Given the description of an element on the screen output the (x, y) to click on. 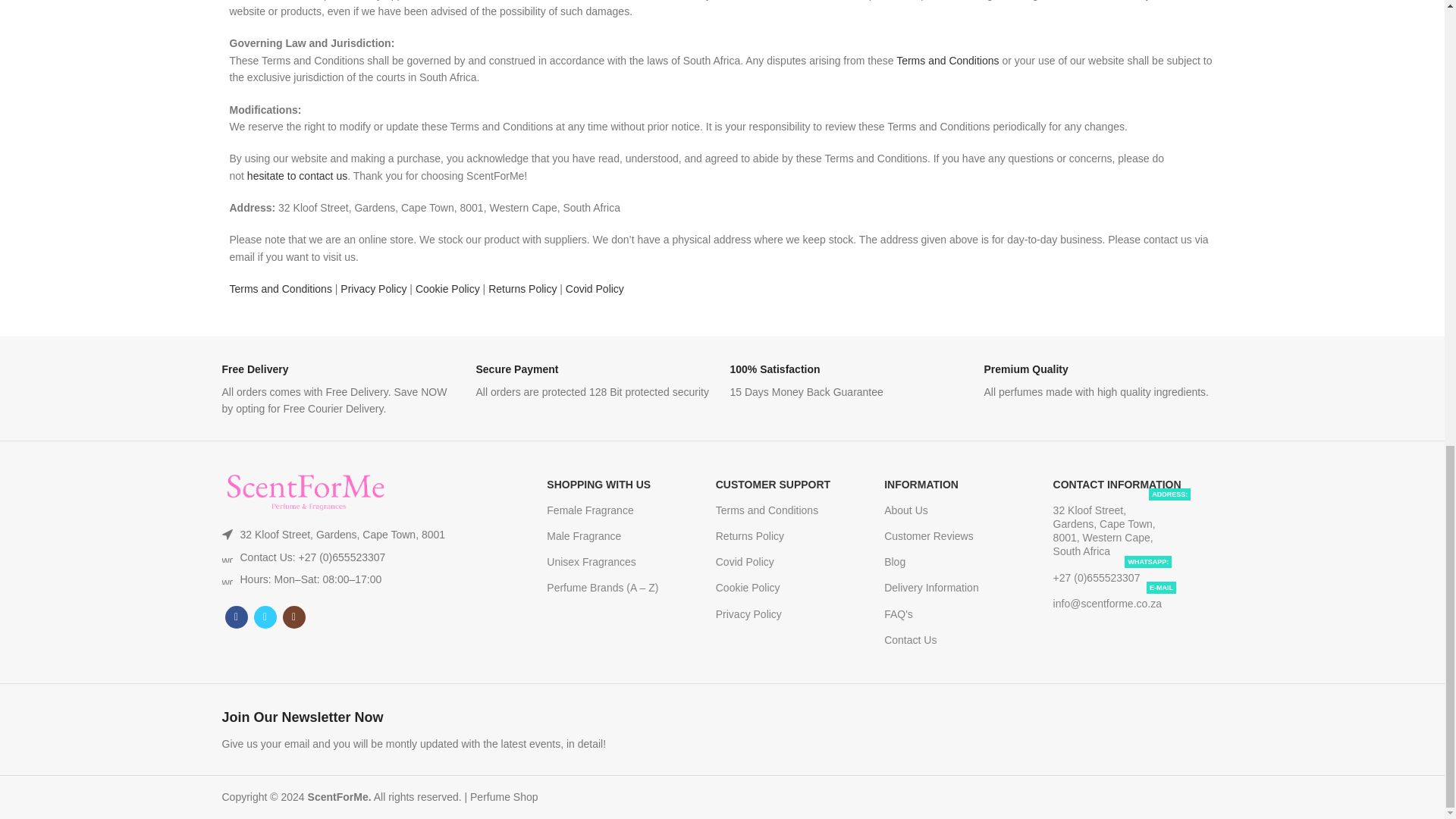
wd-envelope-dark (226, 579)
wd-phone-dark (226, 557)
wd-cursor-dark (226, 534)
